Given the description of an element on the screen output the (x, y) to click on. 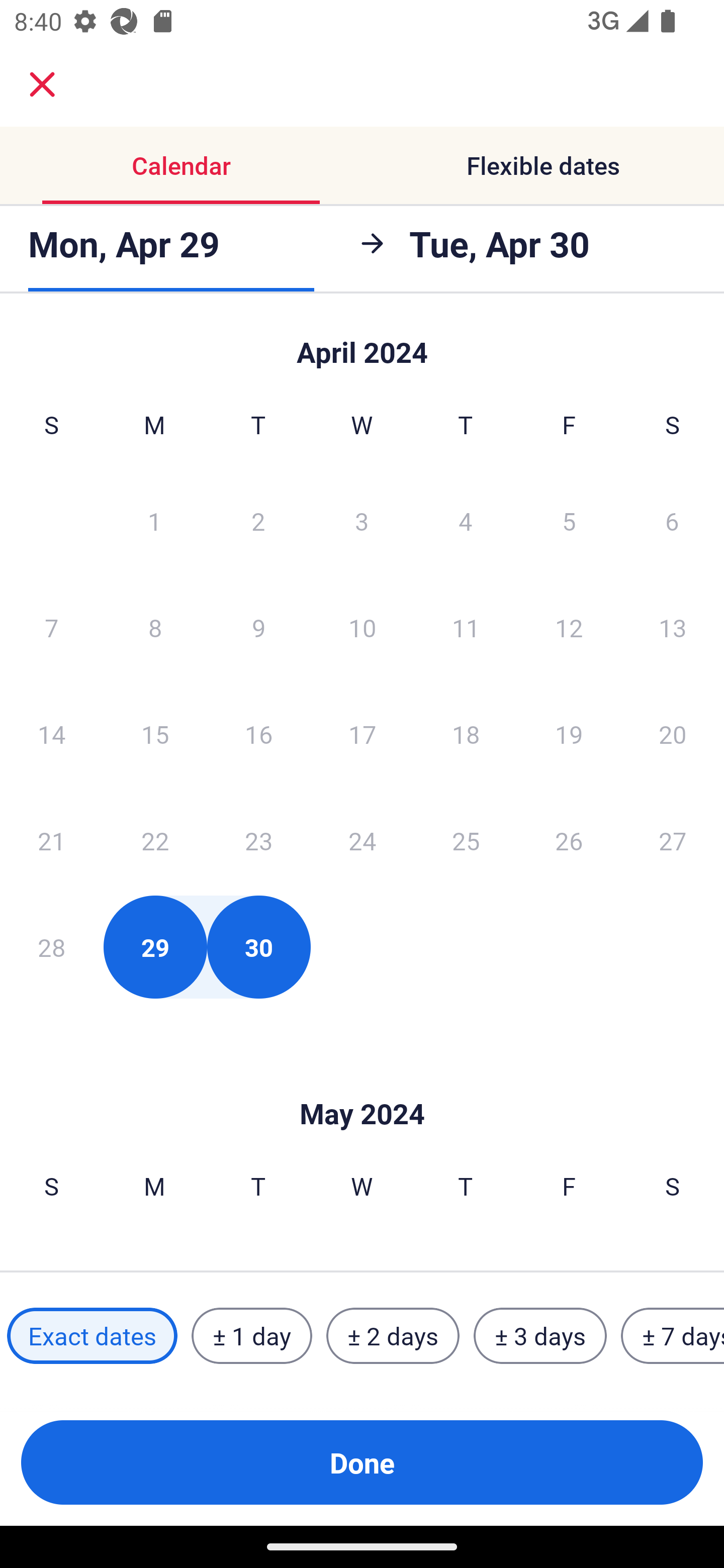
close. (42, 84)
Flexible dates (542, 164)
Skip to Done (362, 343)
1 Monday, April 1, 2024 (154, 520)
2 Tuesday, April 2, 2024 (257, 520)
3 Wednesday, April 3, 2024 (361, 520)
4 Thursday, April 4, 2024 (465, 520)
5 Friday, April 5, 2024 (568, 520)
6 Saturday, April 6, 2024 (672, 520)
7 Sunday, April 7, 2024 (51, 626)
8 Monday, April 8, 2024 (155, 626)
9 Tuesday, April 9, 2024 (258, 626)
10 Wednesday, April 10, 2024 (362, 626)
11 Thursday, April 11, 2024 (465, 626)
12 Friday, April 12, 2024 (569, 626)
13 Saturday, April 13, 2024 (672, 626)
14 Sunday, April 14, 2024 (51, 733)
15 Monday, April 15, 2024 (155, 733)
16 Tuesday, April 16, 2024 (258, 733)
17 Wednesday, April 17, 2024 (362, 733)
18 Thursday, April 18, 2024 (465, 733)
19 Friday, April 19, 2024 (569, 733)
20 Saturday, April 20, 2024 (672, 733)
21 Sunday, April 21, 2024 (51, 840)
22 Monday, April 22, 2024 (155, 840)
23 Tuesday, April 23, 2024 (258, 840)
24 Wednesday, April 24, 2024 (362, 840)
25 Thursday, April 25, 2024 (465, 840)
26 Friday, April 26, 2024 (569, 840)
27 Saturday, April 27, 2024 (672, 840)
28 Sunday, April 28, 2024 (51, 946)
Skip to Done (362, 1083)
Exact dates (92, 1335)
± 1 day (251, 1335)
± 2 days (392, 1335)
± 3 days (539, 1335)
± 7 days (672, 1335)
Done (361, 1462)
